Given the description of an element on the screen output the (x, y) to click on. 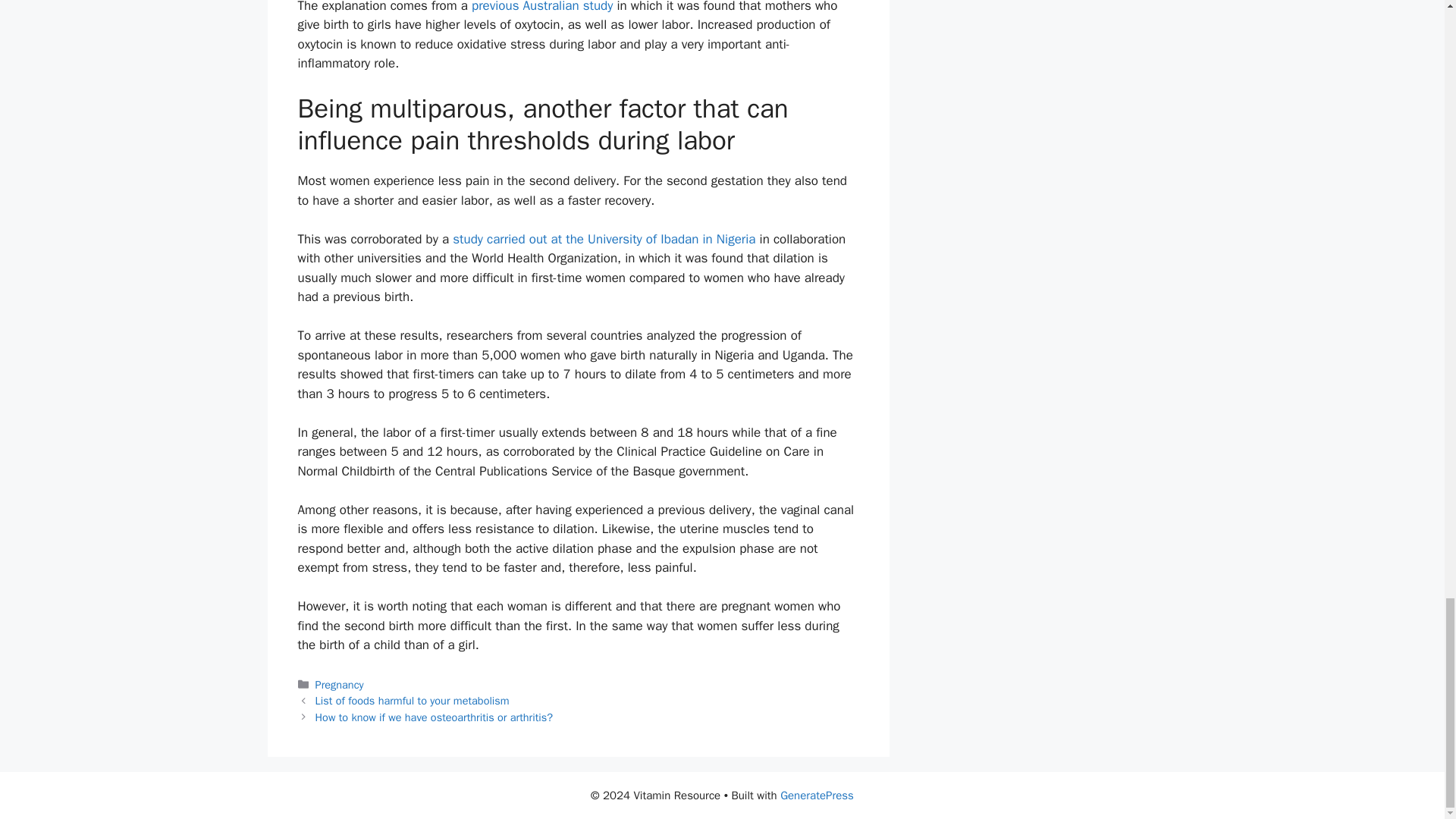
List of foods harmful to your metabolism (412, 700)
How to know if we have osteoarthritis or arthritis? (434, 716)
study carried out at the University of Ibadan in Nigeria (603, 238)
previous Australian study (541, 6)
Pregnancy (339, 684)
